Given the description of an element on the screen output the (x, y) to click on. 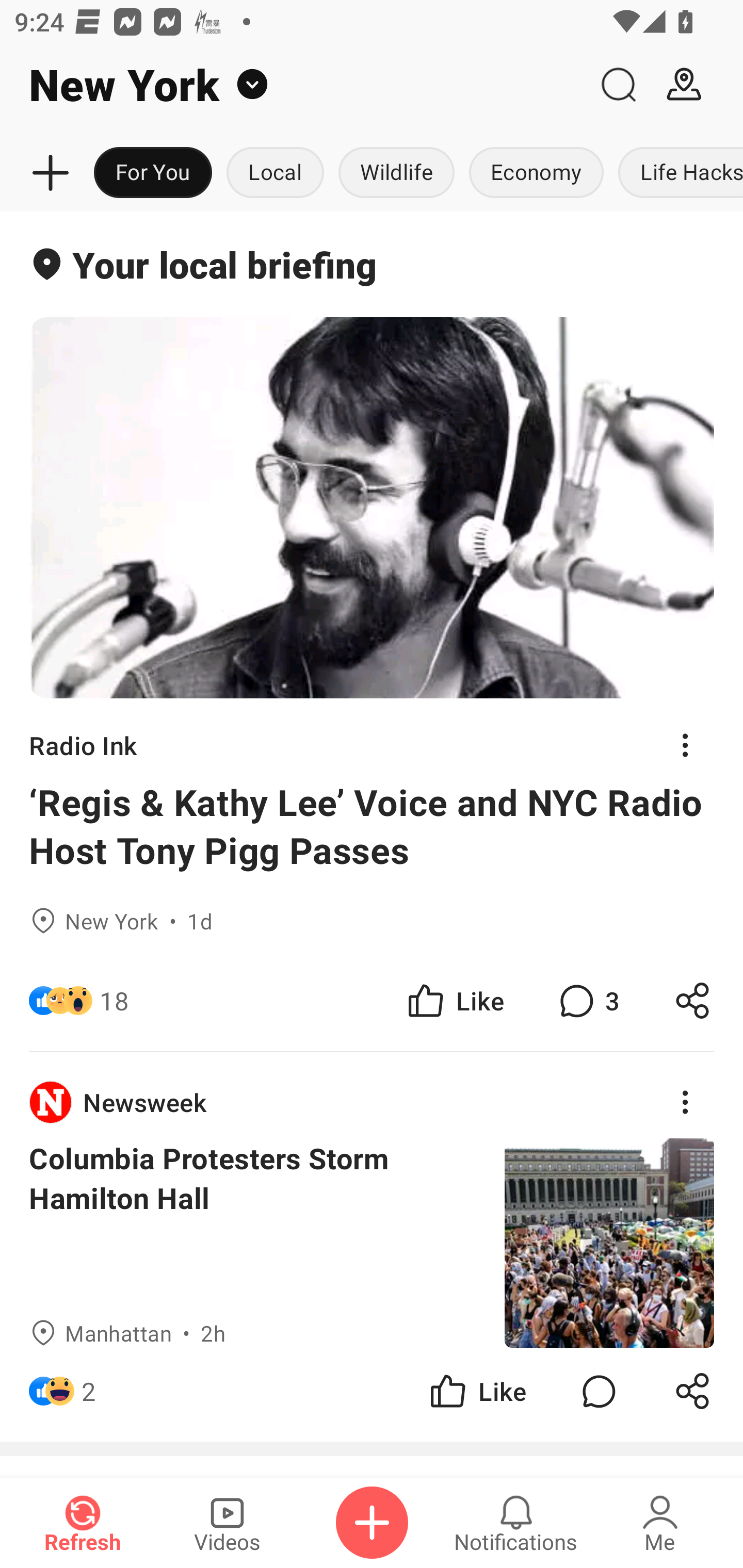
New York (292, 84)
For You (152, 172)
Local (275, 172)
Wildlife (396, 172)
Economy (536, 172)
Life Hacks (676, 172)
18 (114, 1001)
Like (454, 1001)
3 (587, 1001)
2 (88, 1391)
Like (476, 1391)
Videos (227, 1522)
Notifications (516, 1522)
Me (659, 1522)
